Given the description of an element on the screen output the (x, y) to click on. 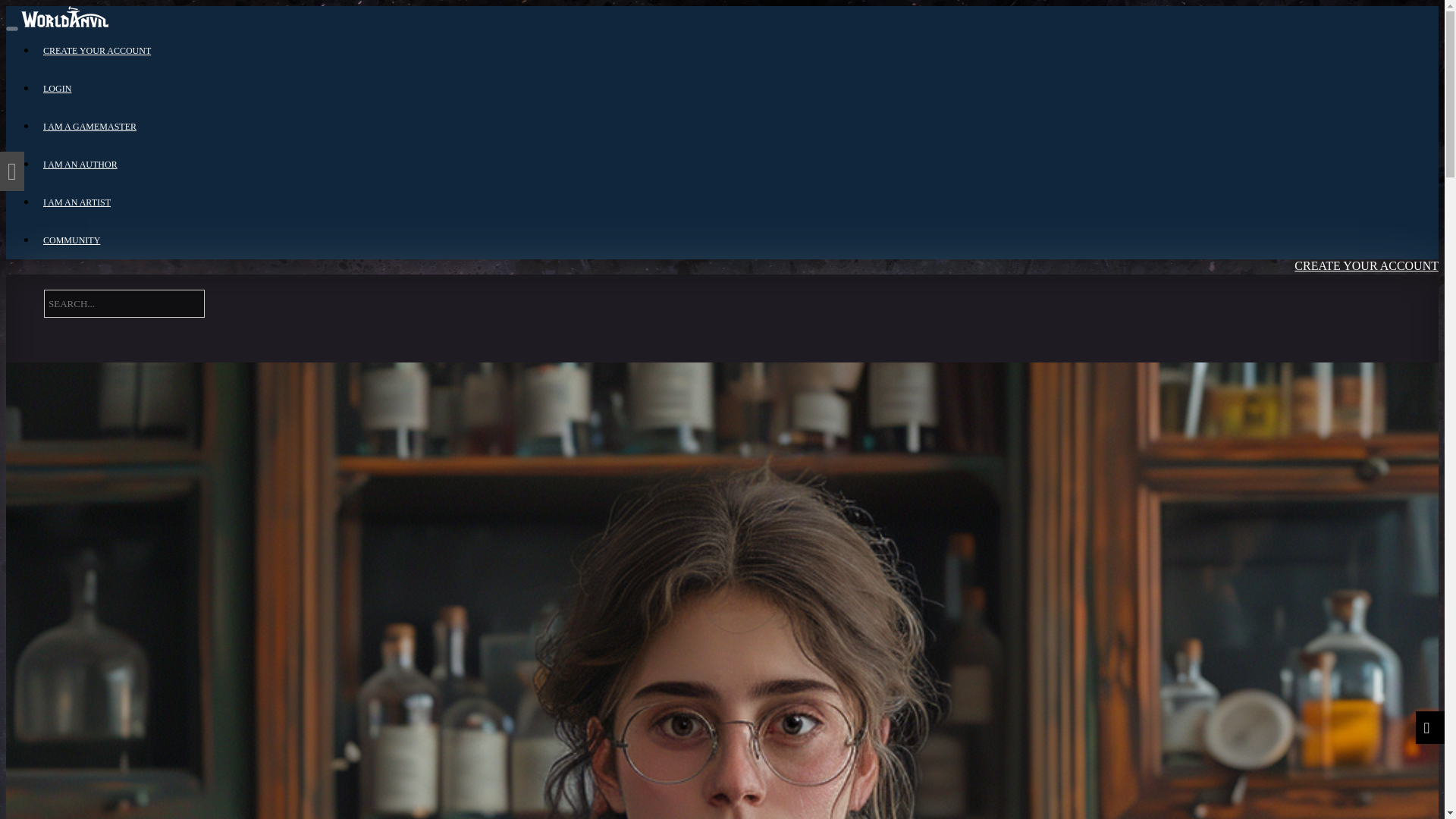
CREATE YOUR ACCOUNT (96, 50)
COMMUNITY (71, 240)
I AM AN ARTIST (76, 202)
LOGIN (1315, 329)
LOGIN (1313, 354)
I AM A GAMEMASTER (89, 126)
I AM AN AUTHOR (79, 163)
Toggle Menu (11, 28)
LOGIN (57, 88)
CREATE YOUR ACCOUNT (1354, 291)
